Given the description of an element on the screen output the (x, y) to click on. 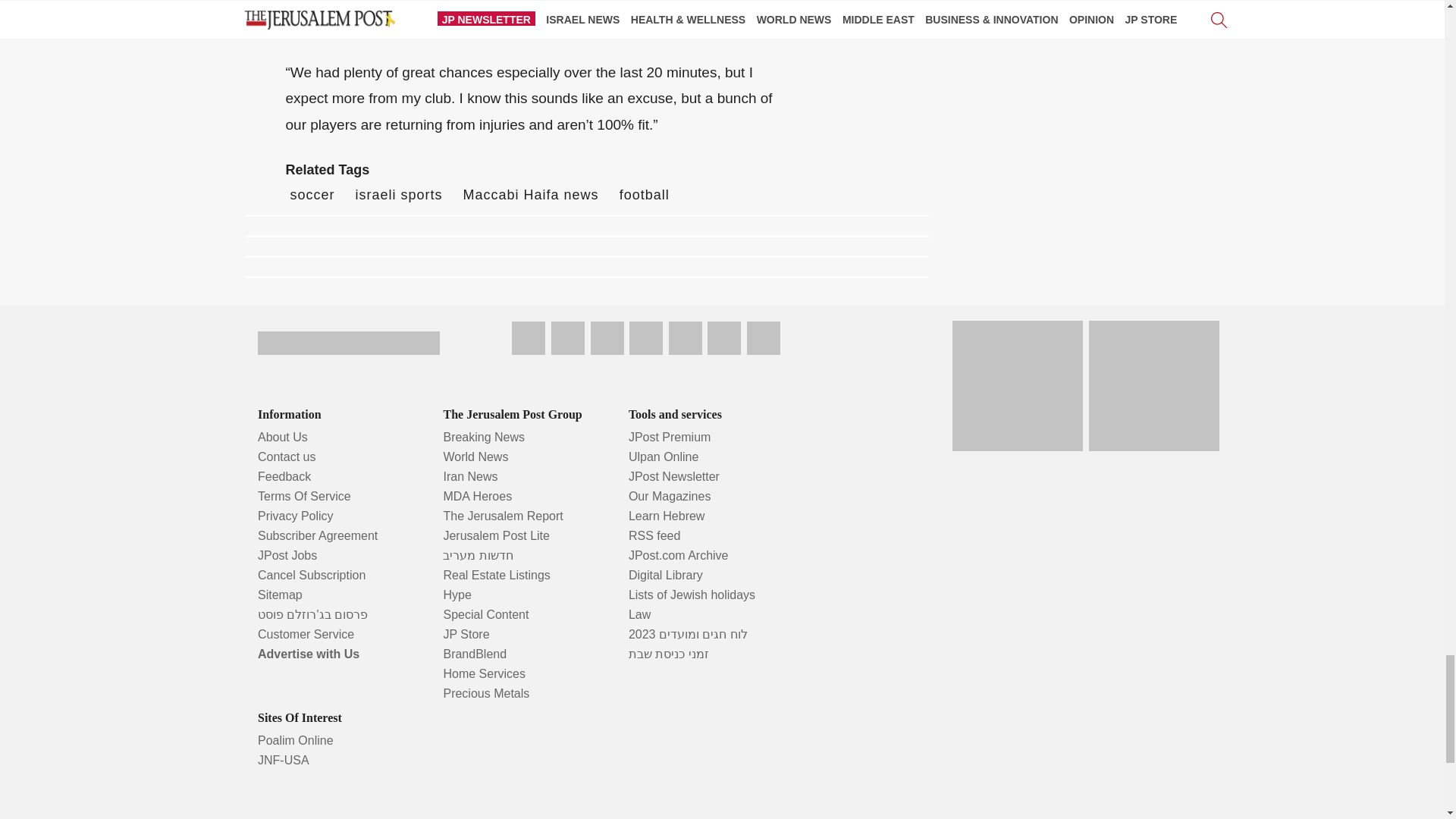
israeli sports (398, 194)
football (644, 194)
Maccabi Haifa news (530, 194)
football (644, 194)
israeli sports (398, 194)
soccer (311, 194)
Maccabi Haifa news (530, 194)
soccer (311, 194)
